Given the description of an element on the screen output the (x, y) to click on. 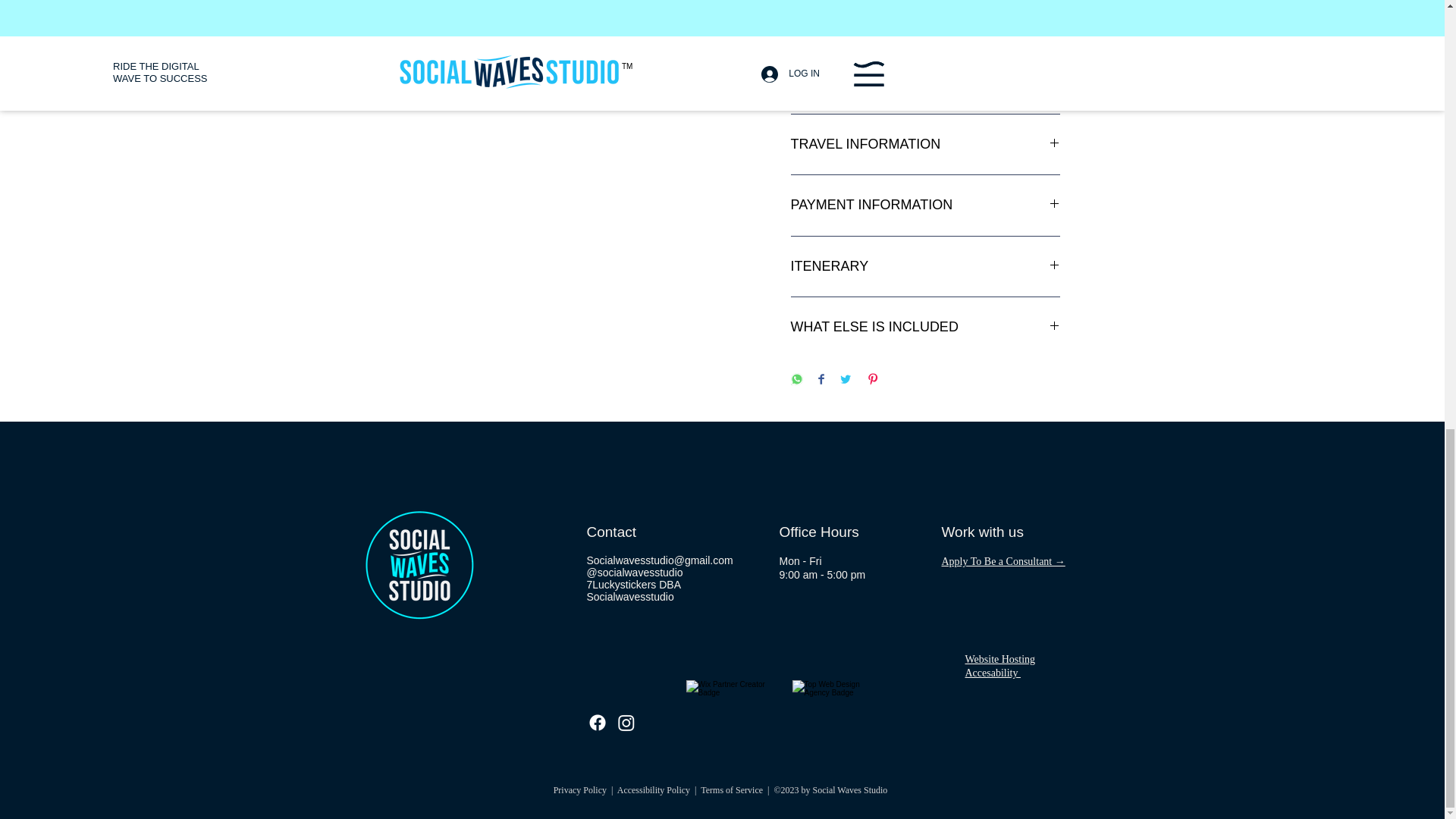
Website Hosting (999, 658)
WHAT ELSE IS INCLUDED (924, 327)
PAYMENT INFORMATION (924, 205)
ITENERARY (924, 266)
Privacy Policy (580, 789)
TRAVEL INFORMATION (924, 144)
Accessibility Policy (653, 789)
Accesability  (991, 672)
